Given the description of an element on the screen output the (x, y) to click on. 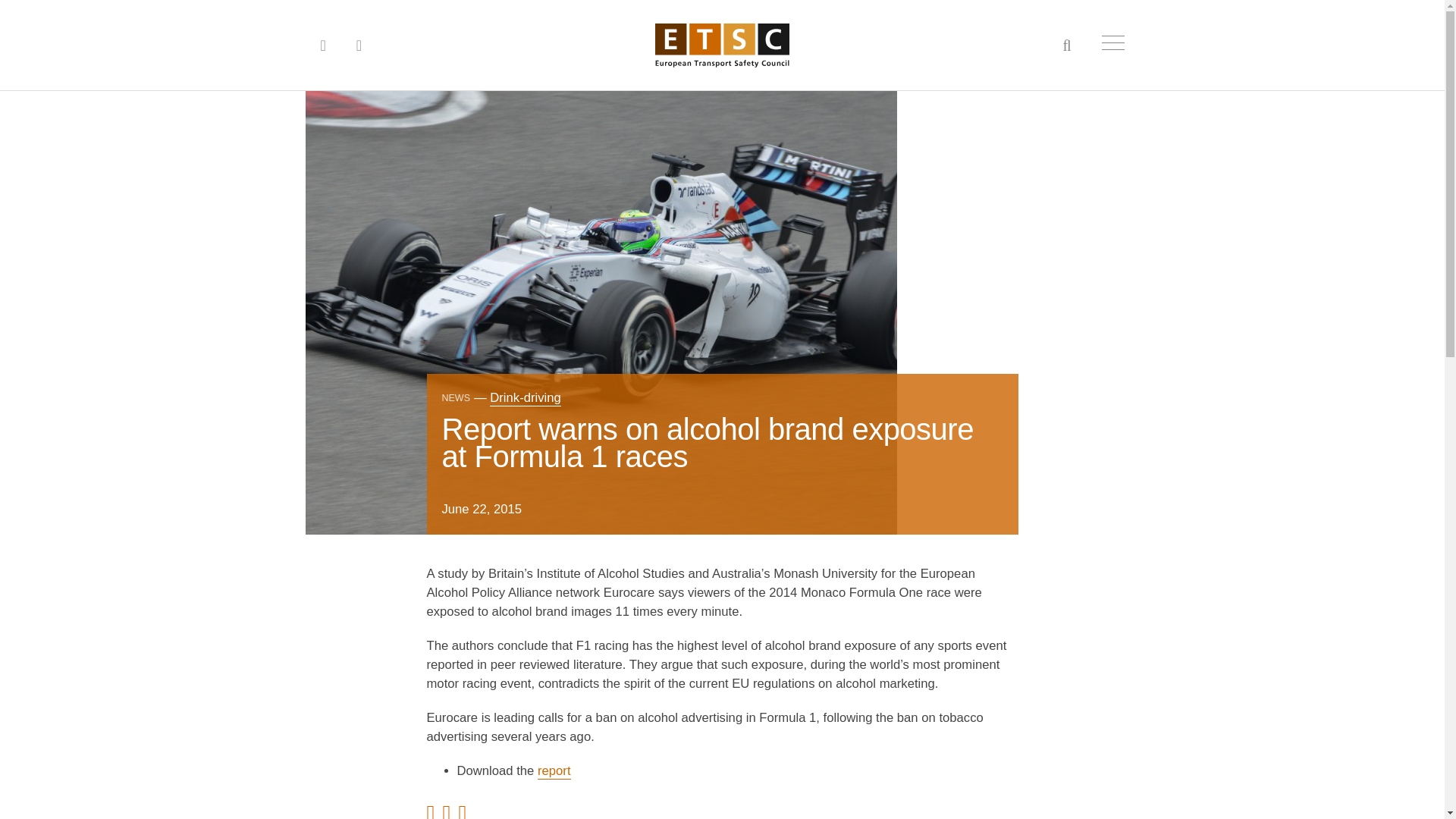
ETSC (722, 45)
